Given the description of an element on the screen output the (x, y) to click on. 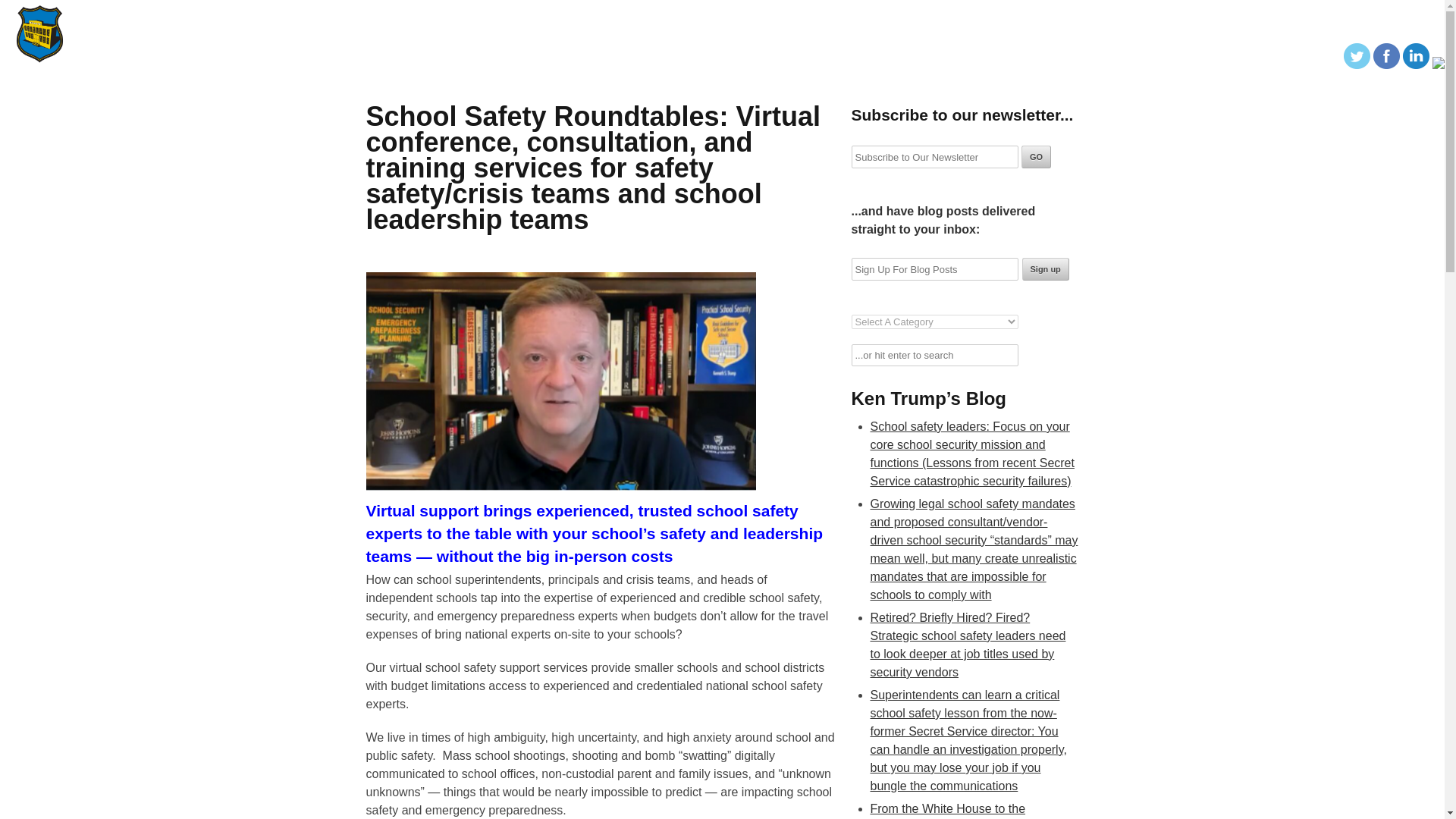
HOME (737, 18)
CONSULTING (1129, 18)
PODCAST (892, 18)
TRAINING (1057, 18)
ABOUT (787, 18)
...or hit enter to search (933, 354)
EXPERT WITNESS (1220, 18)
NEWS (1002, 18)
PARENTS (1366, 18)
BLOG (836, 18)
